Given the description of an element on the screen output the (x, y) to click on. 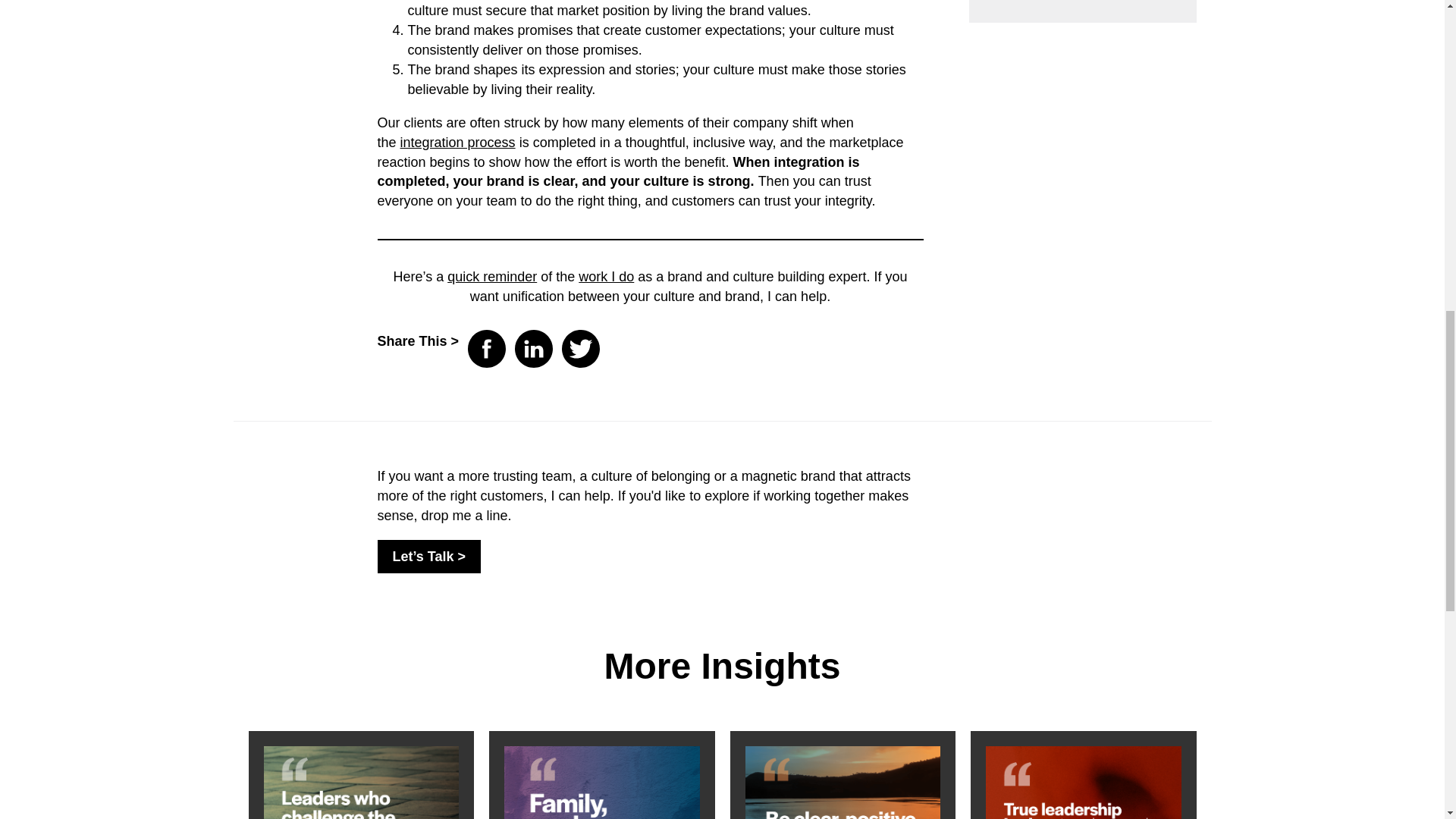
work I do (605, 276)
integration process (457, 142)
July 1, 2024 (842, 782)
quick reminder (491, 276)
July 6, 2024 (601, 782)
June 22, 2024 (1082, 782)
July 15, 2024 (361, 782)
